Given the description of an element on the screen output the (x, y) to click on. 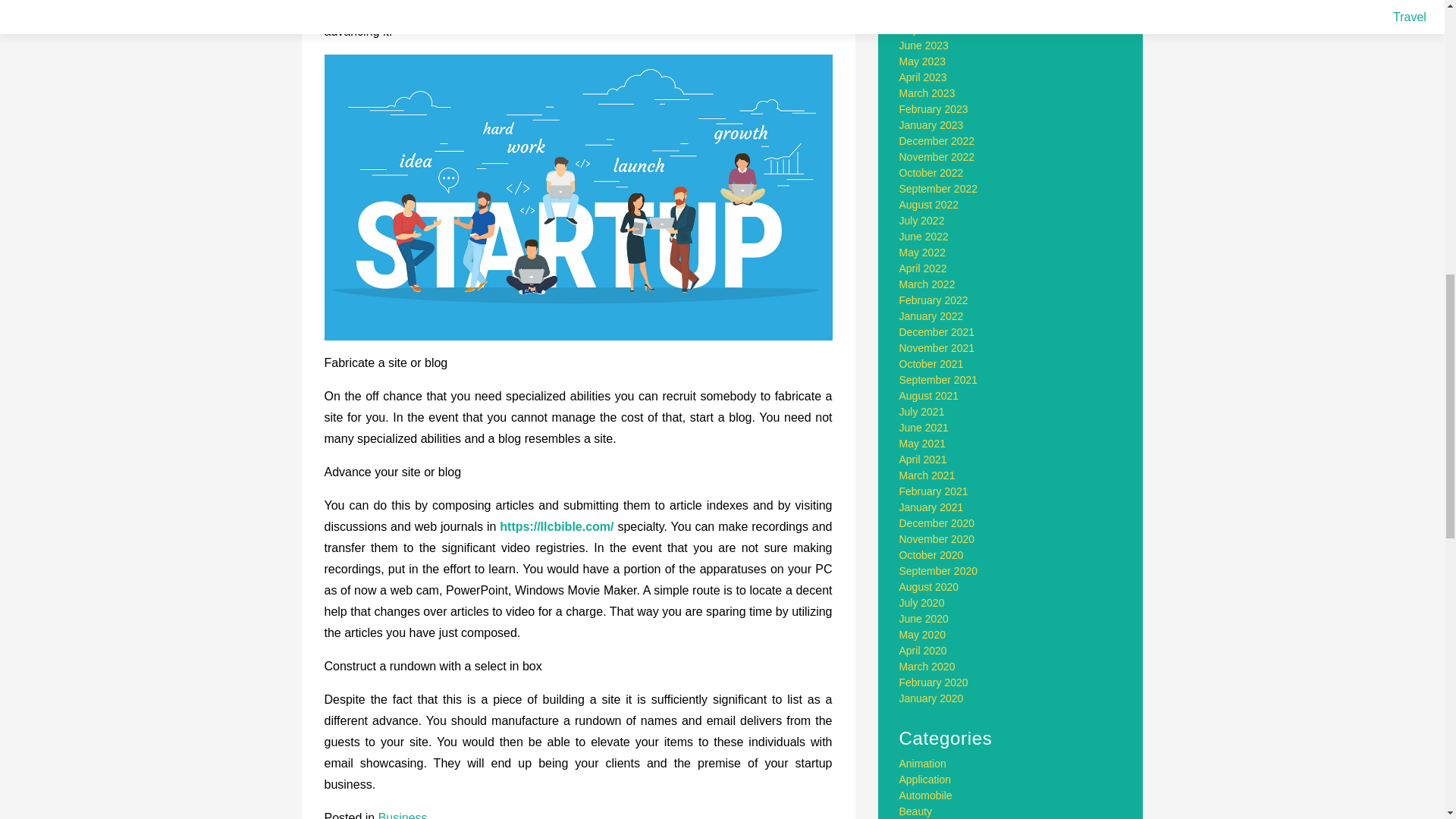
August 2022 (929, 204)
May 2023 (921, 61)
September 2023 (938, 2)
February 2023 (933, 109)
July 2022 (921, 220)
April 2023 (923, 77)
January 2023 (931, 124)
March 2023 (927, 92)
December 2022 (937, 141)
June 2023 (924, 45)
